Given the description of an element on the screen output the (x, y) to click on. 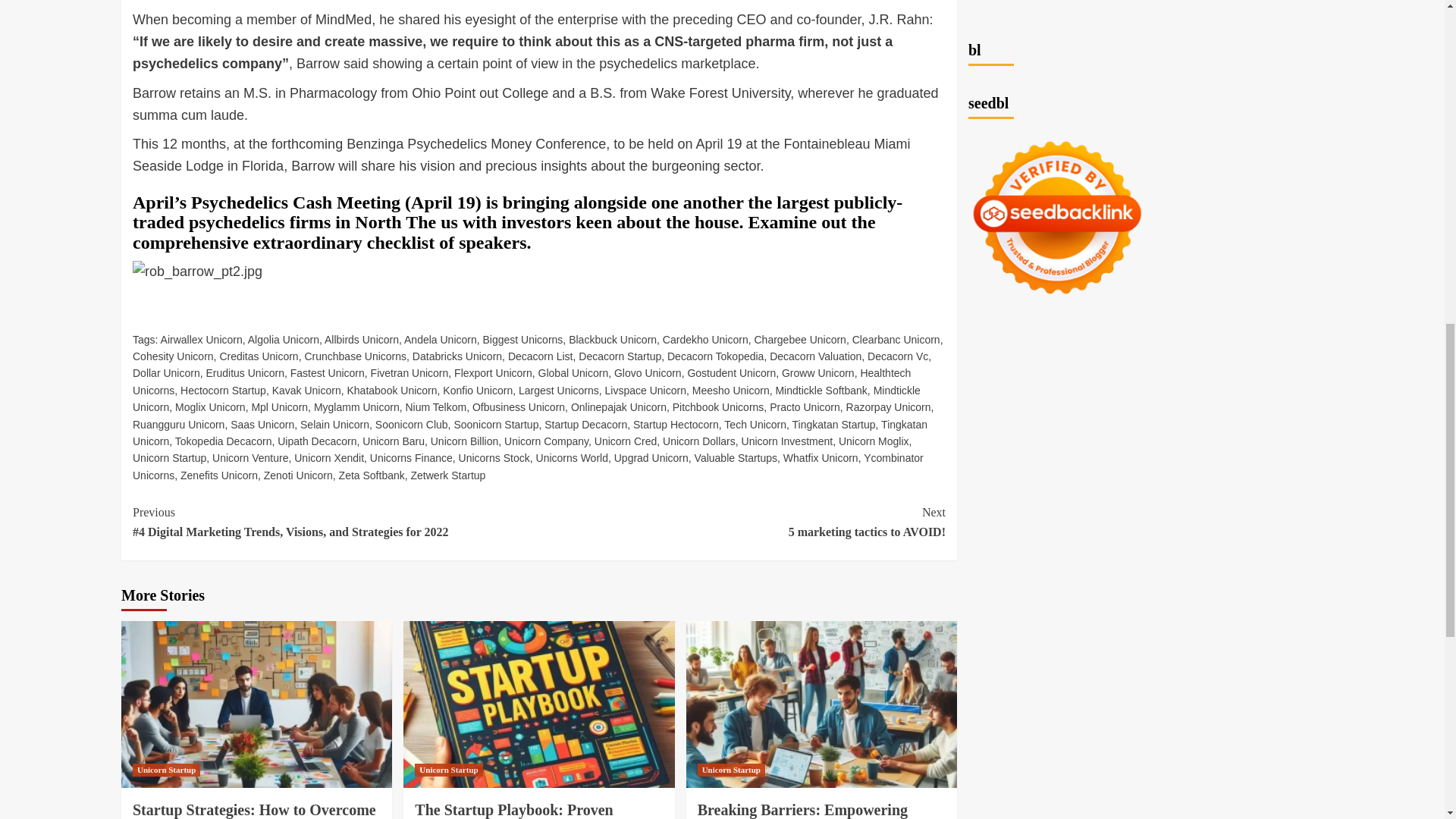
Cohesity Unicorn (173, 356)
Allbirds Unicorn (361, 339)
Airwallex Unicorn (201, 339)
Decacorn List (540, 356)
Blackbuck Unicorn (612, 339)
Decacorn Startup (619, 356)
Crunchbase Unicorns (355, 356)
Biggest Unicorns (523, 339)
Algolia Unicorn (282, 339)
Databricks Unicorn (457, 356)
Decacorn Tokopedia (714, 356)
Clearbanc Unicorn (895, 339)
